Given the description of an element on the screen output the (x, y) to click on. 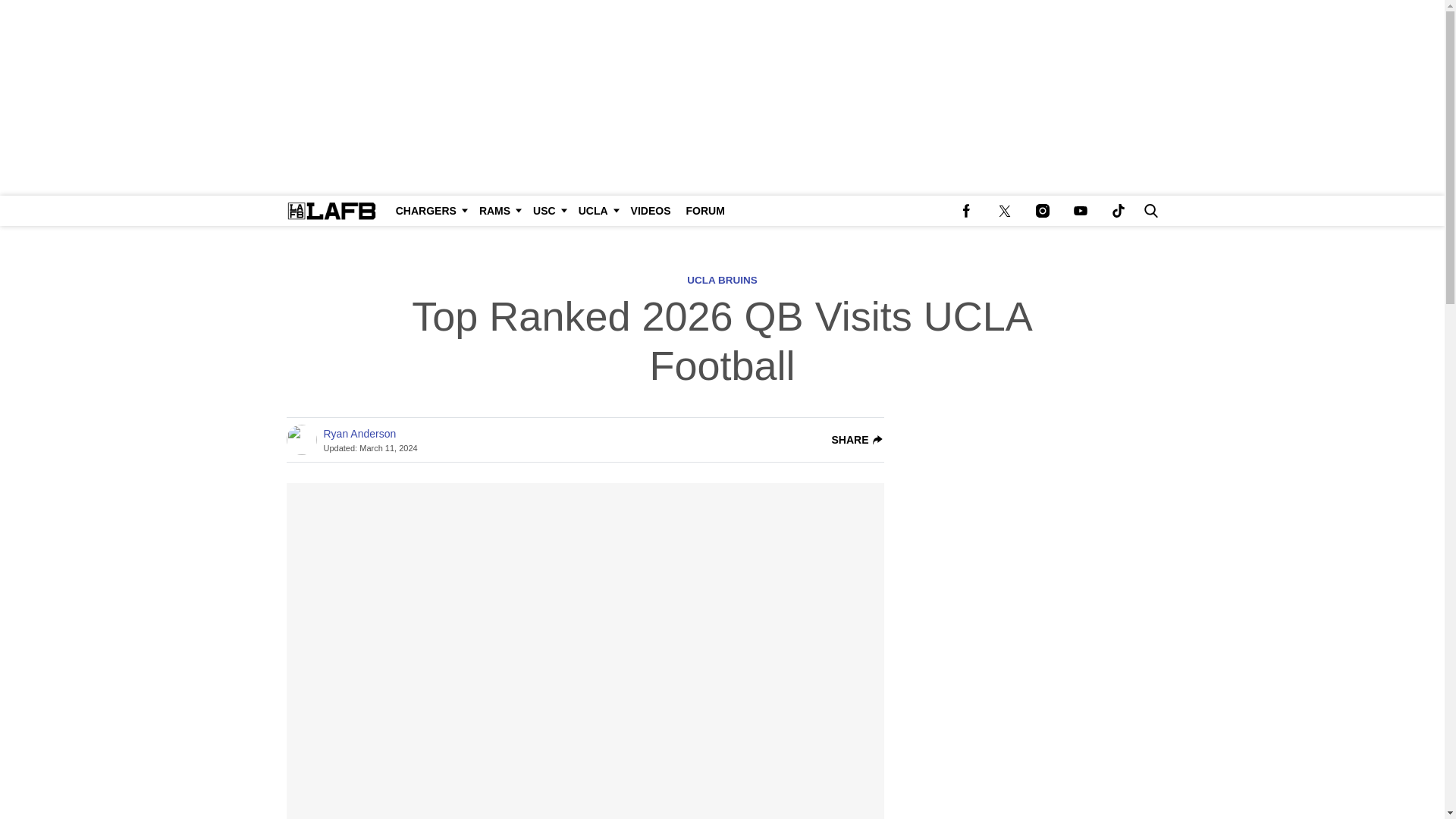
Subscribe to our TikTok channel (1118, 210)
VIDEOS (650, 210)
FORUM (705, 210)
Follow us on Instagram (1042, 210)
Follow us on Twitter (1004, 210)
CHARGERS (429, 210)
Ryan Anderson (359, 433)
Follow us on Facebook (966, 210)
UCLA BRUINS (722, 279)
Subscribe to our YouTube channel (1080, 210)
